Given the description of an element on the screen output the (x, y) to click on. 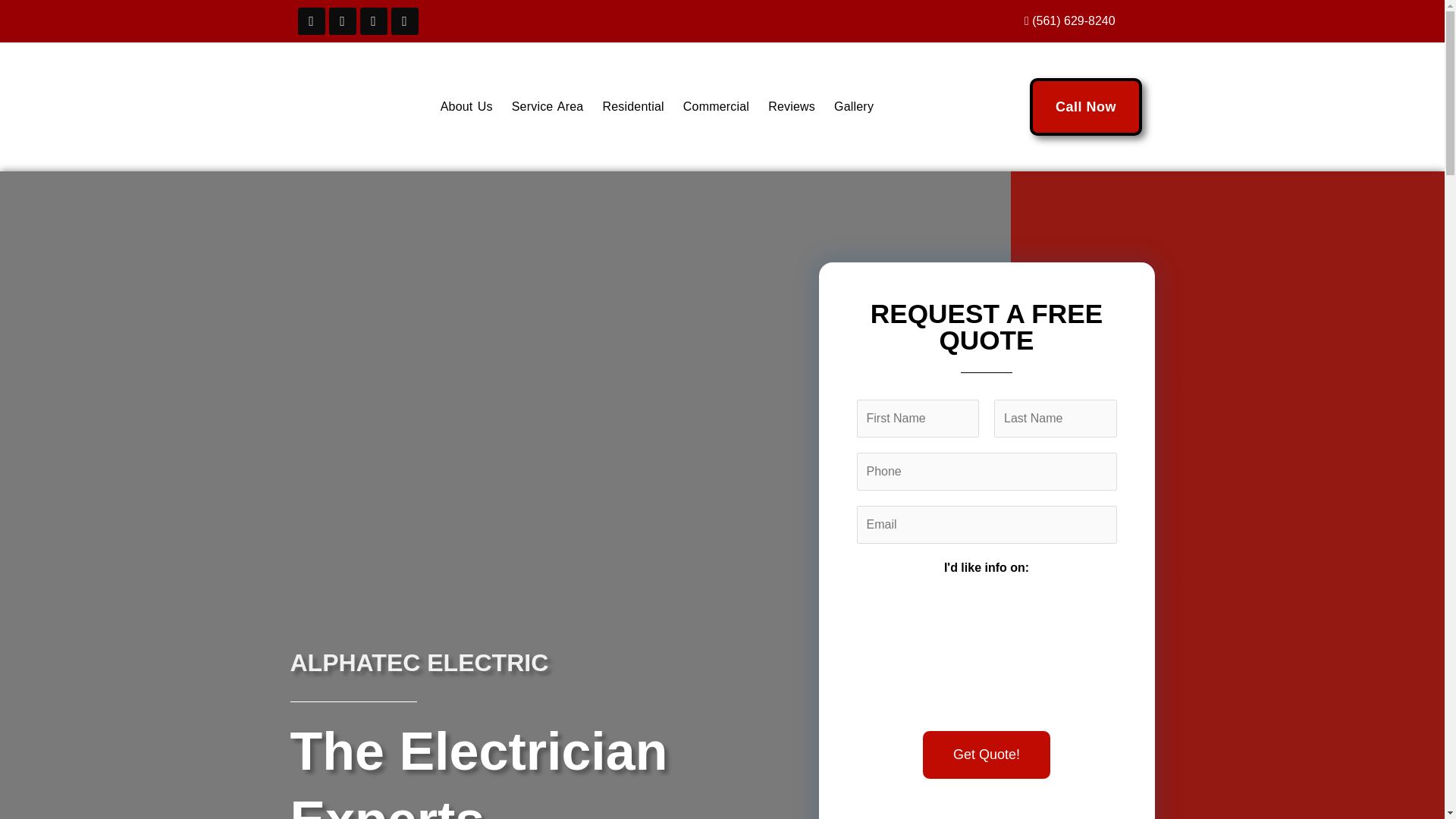
Youtube (373, 21)
Facebook (310, 21)
Residential (632, 106)
Choice 2 (983, 652)
Gallery (853, 106)
Choice 3 (1070, 652)
Reviews (790, 106)
Map-marker-alt (342, 21)
Commercial (716, 106)
Choice 1 (897, 652)
Service Area (547, 106)
Yelp (405, 21)
About Us (466, 106)
